Given the description of an element on the screen output the (x, y) to click on. 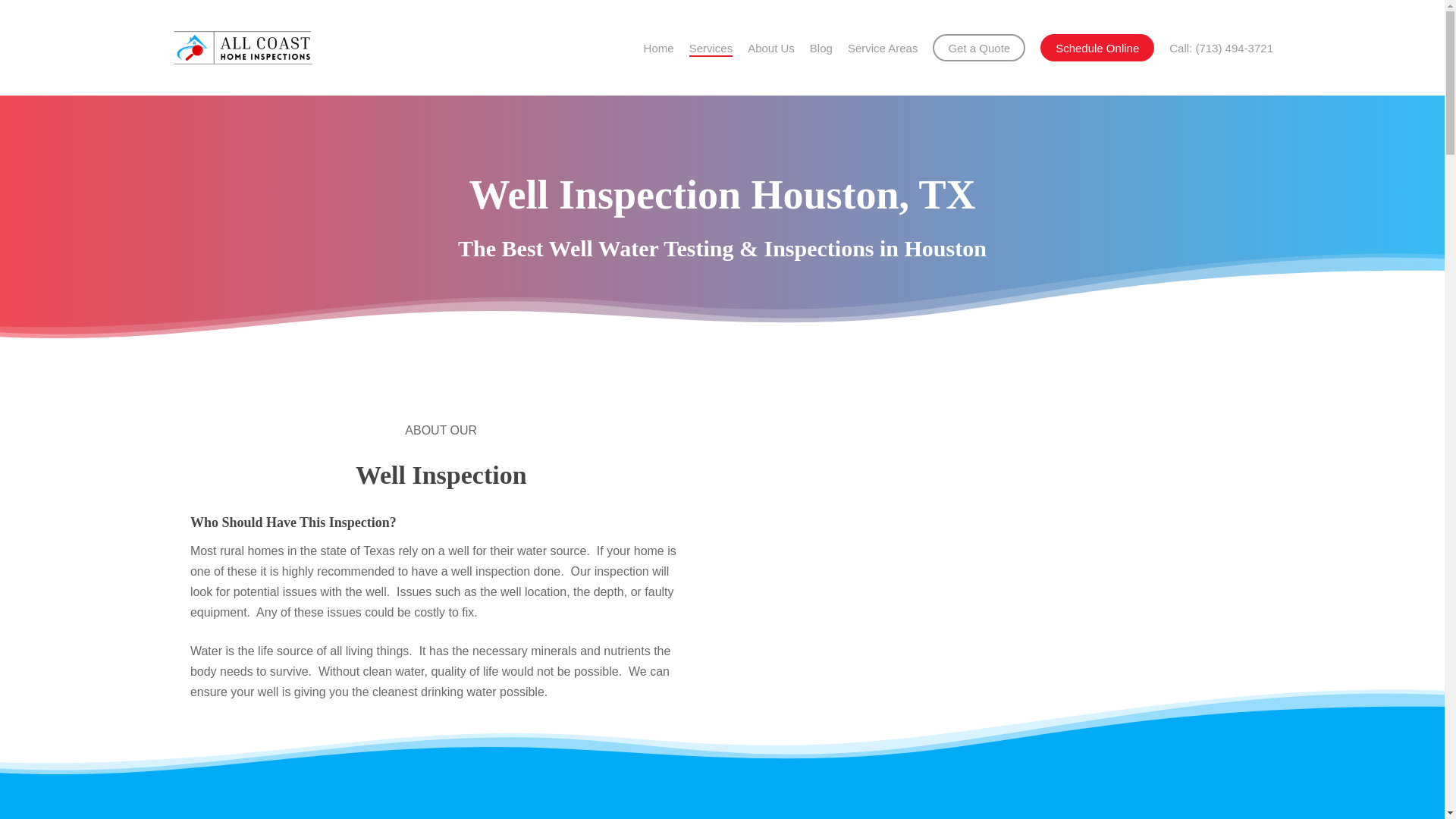
Service Areas (882, 48)
Blog (820, 48)
Home Inspection Houston, TX (658, 48)
About Us (771, 48)
Home (658, 48)
Services (710, 48)
